Given the description of an element on the screen output the (x, y) to click on. 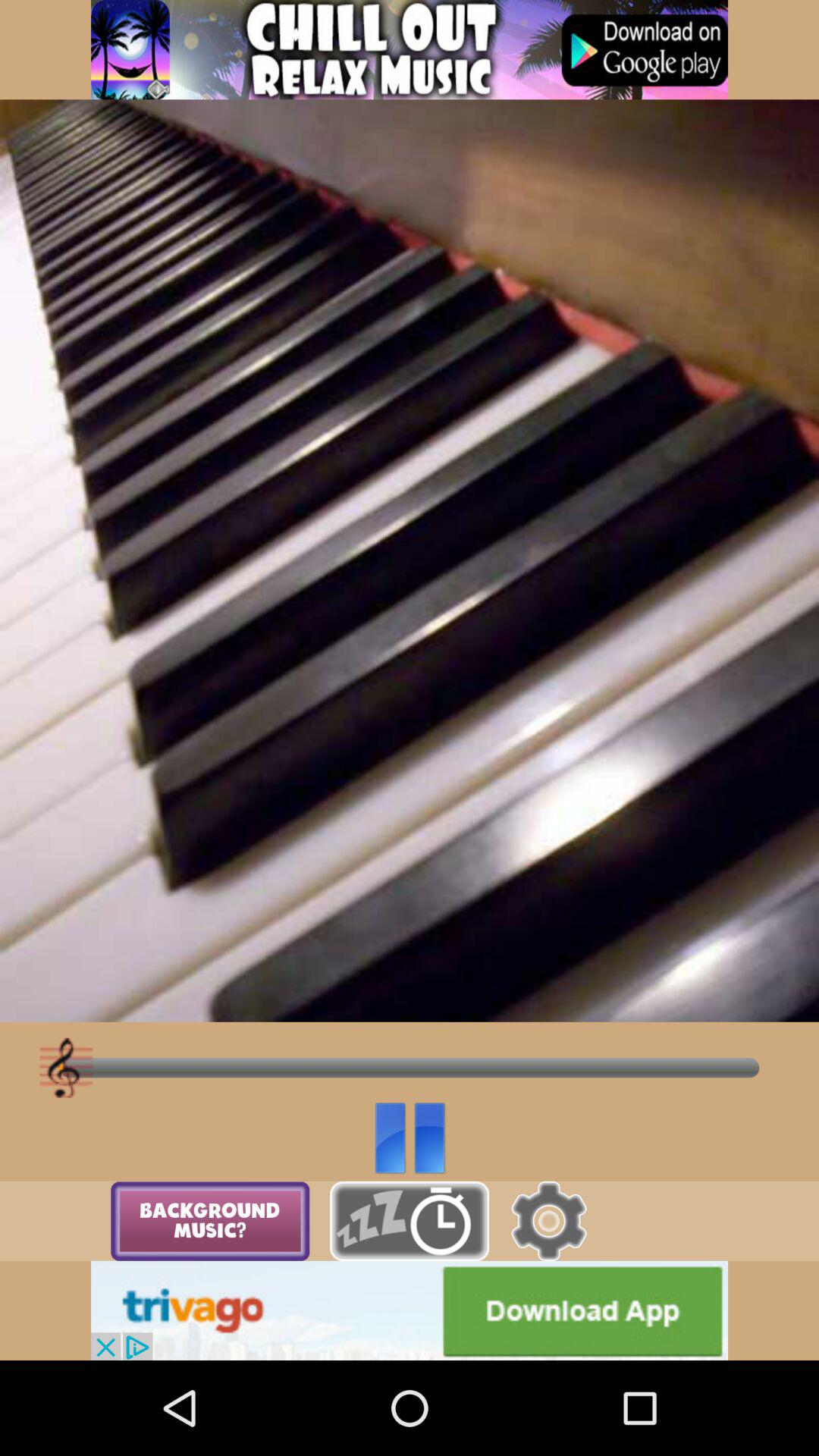
click discription (409, 49)
